Given the description of an element on the screen output the (x, y) to click on. 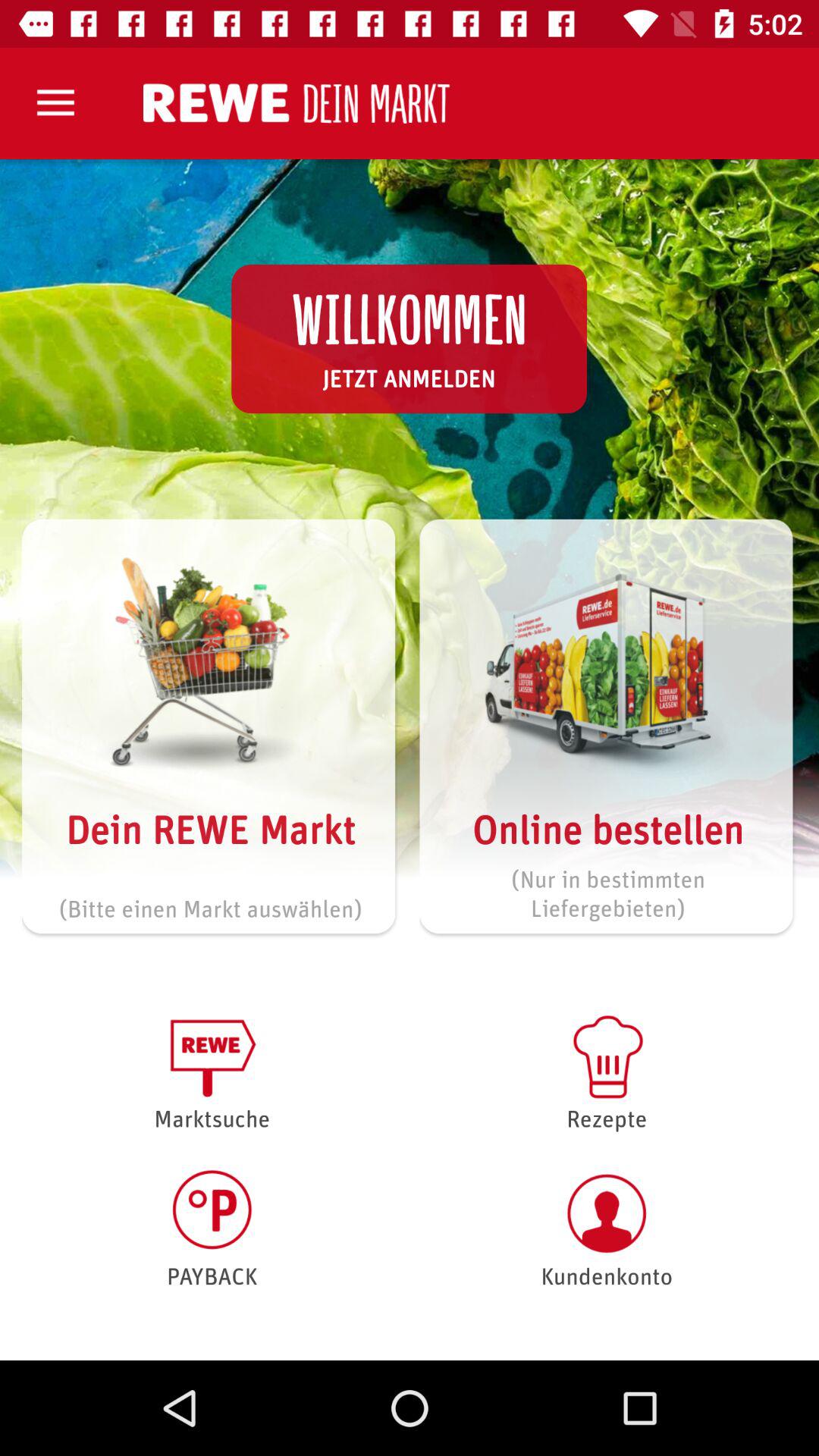
launch icon below nur in bestimmten icon (606, 1070)
